Given the description of an element on the screen output the (x, y) to click on. 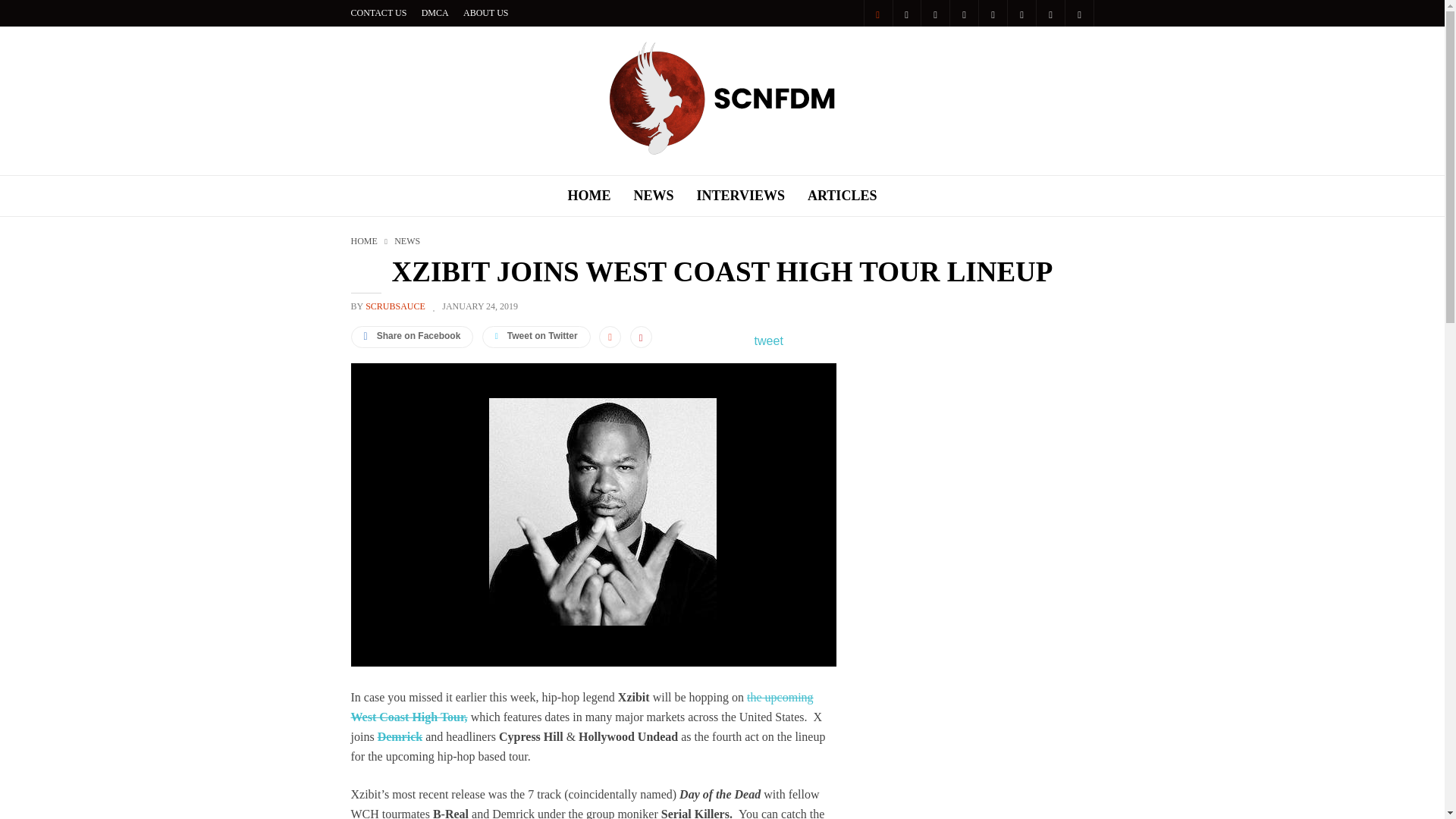
HOME (600, 196)
Tweet on Twitter (536, 336)
Vimeo (1049, 13)
SCNFDM (721, 151)
ARTICLES (842, 196)
CONTACT US (378, 12)
SCNFDM: Hollywood Undead (721, 97)
INTERVIEWS (752, 196)
Instagram (934, 13)
NEWS (665, 196)
